Given the description of an element on the screen output the (x, y) to click on. 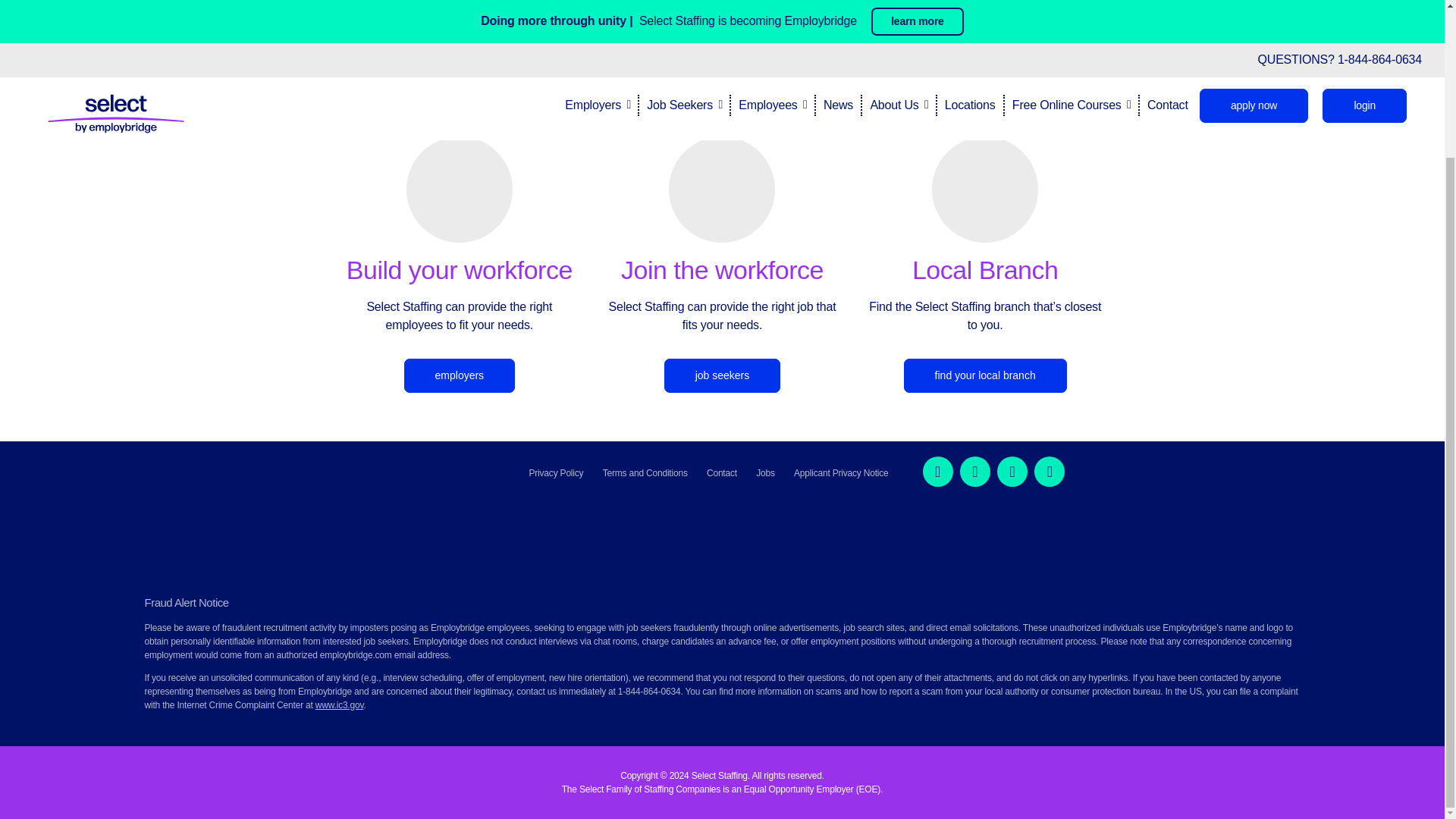
employers (459, 375)
job seekers (721, 375)
Internet Crime Complaint Center (339, 705)
find your local branch (985, 375)
